Given the description of an element on the screen output the (x, y) to click on. 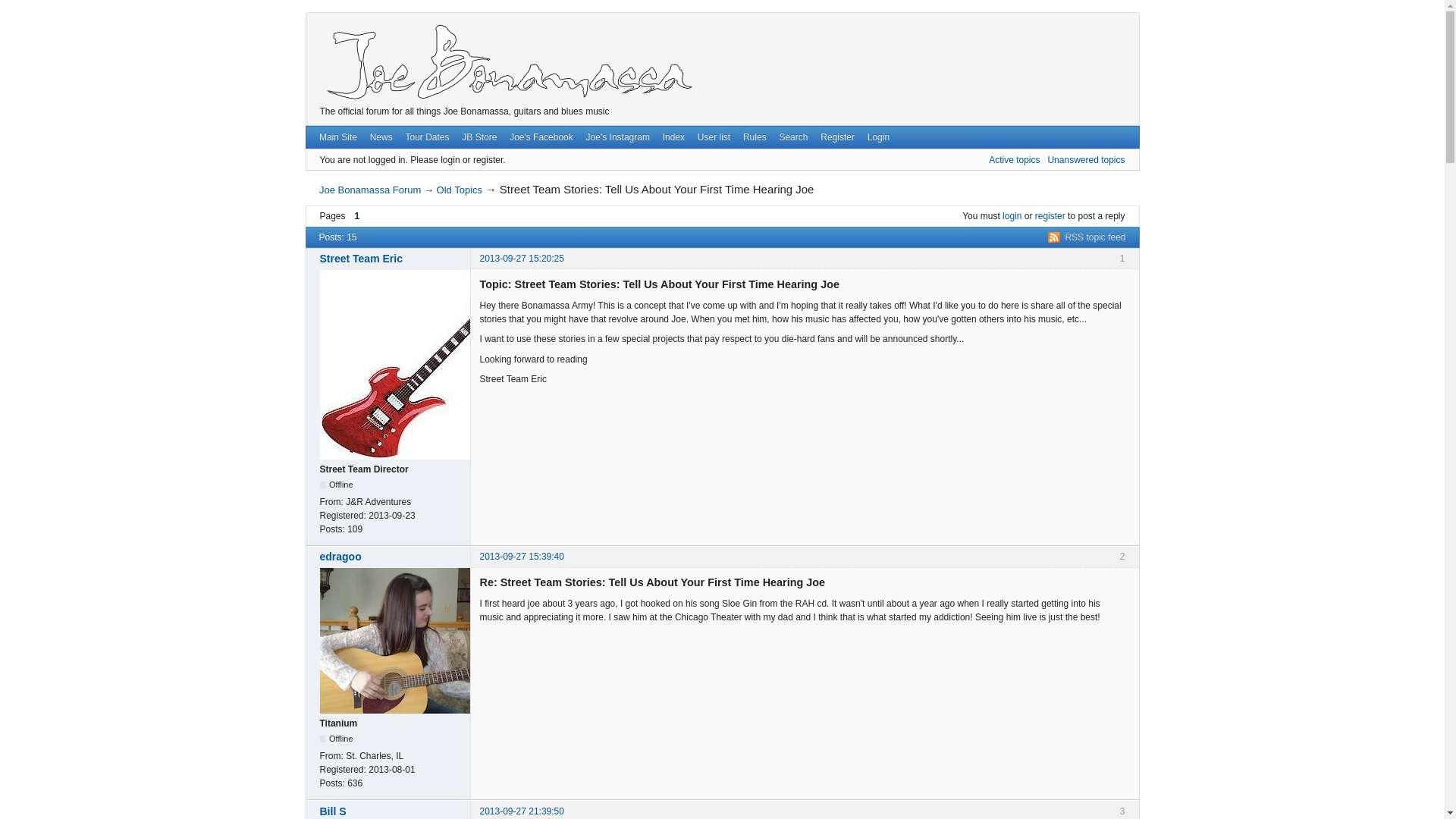
login (1012, 215)
Joe's Instagram (617, 137)
Go to Bill S's profile (390, 811)
Permanent link to this post (521, 556)
Go to Street Team Eric's profile (390, 258)
Index (673, 137)
Rules (754, 137)
User list (713, 137)
Search (793, 137)
2013-09-27 15:20:25 (521, 258)
